Given the description of an element on the screen output the (x, y) to click on. 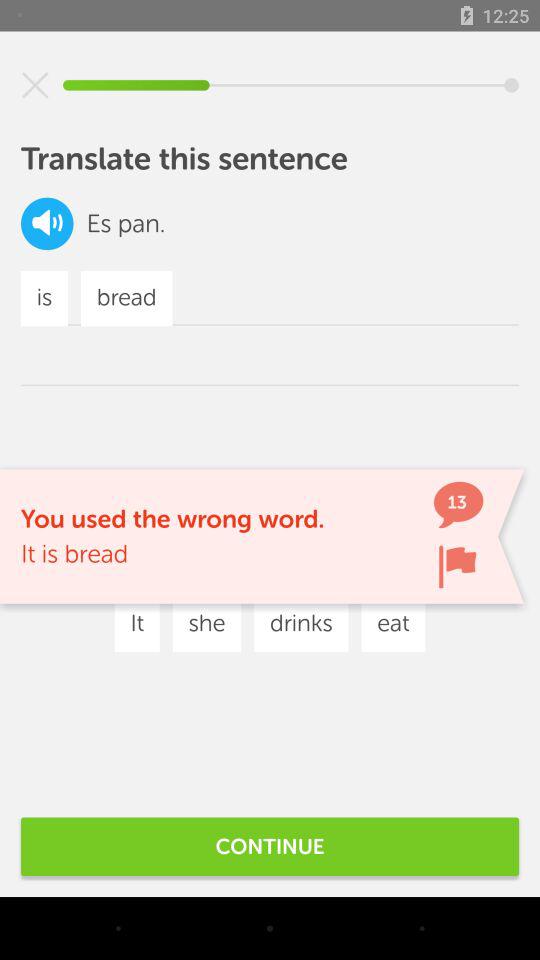
toggle speaker (47, 223)
